Given the description of an element on the screen output the (x, y) to click on. 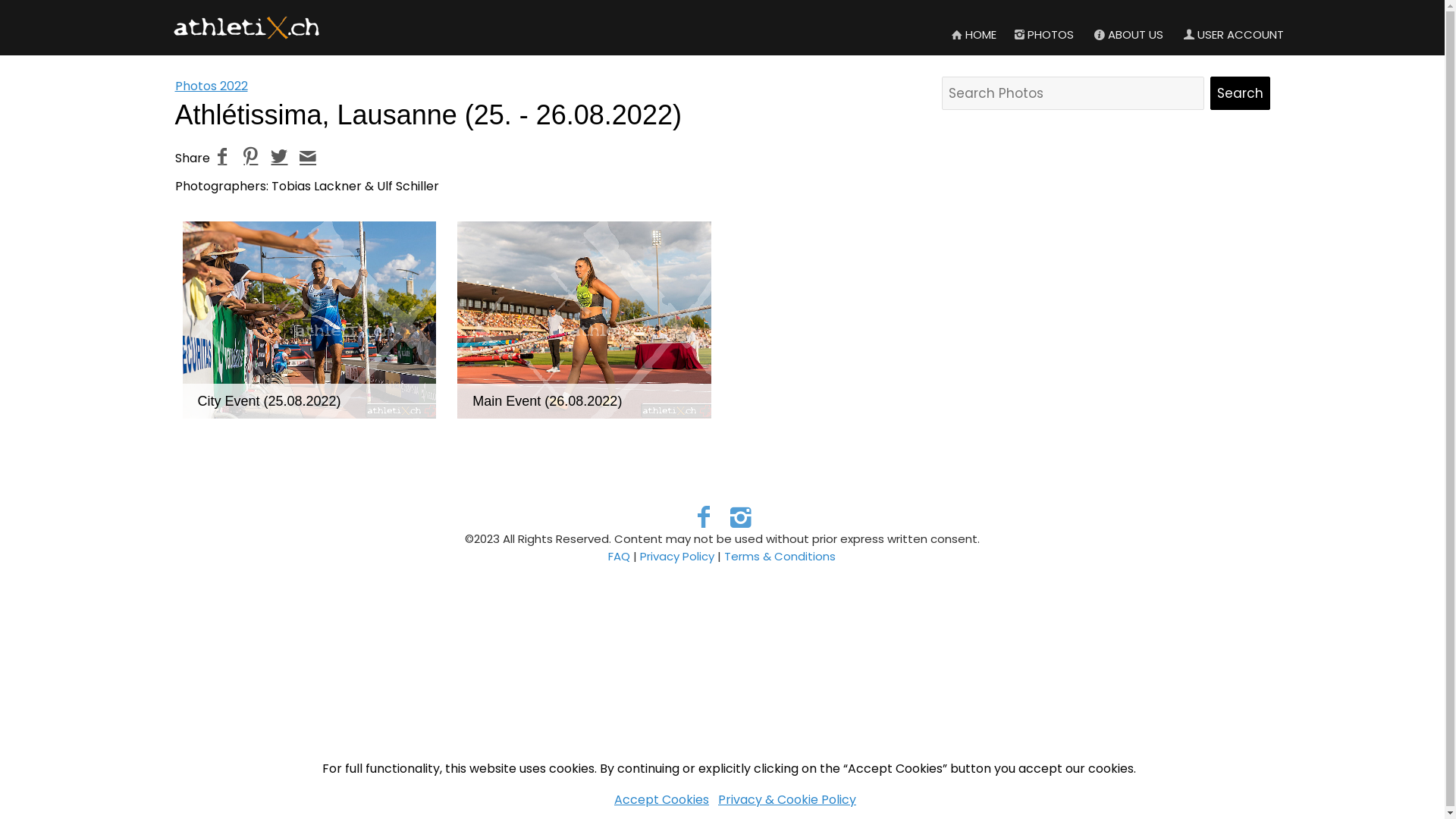
Accept Cookies Element type: text (661, 799)
PHOTOS Element type: text (1042, 34)
Instagram Element type: hover (740, 516)
City Event (25.08.2022) Element type: text (268, 400)
Photos 2022 Element type: text (210, 85)
FAQ Element type: text (619, 556)
Facebook Element type: hover (704, 516)
Privacy & Cookie Policy Element type: text (787, 799)
ABOUT US Element type: text (1127, 34)
Terms & Conditions Element type: text (779, 556)
Main Event (26.08.2022) Element type: text (546, 400)
HOME Element type: text (972, 34)
Privacy Policy Element type: text (677, 556)
Search Element type: text (1240, 92)
USER ACCOUNT Element type: text (1232, 34)
